Given the description of an element on the screen output the (x, y) to click on. 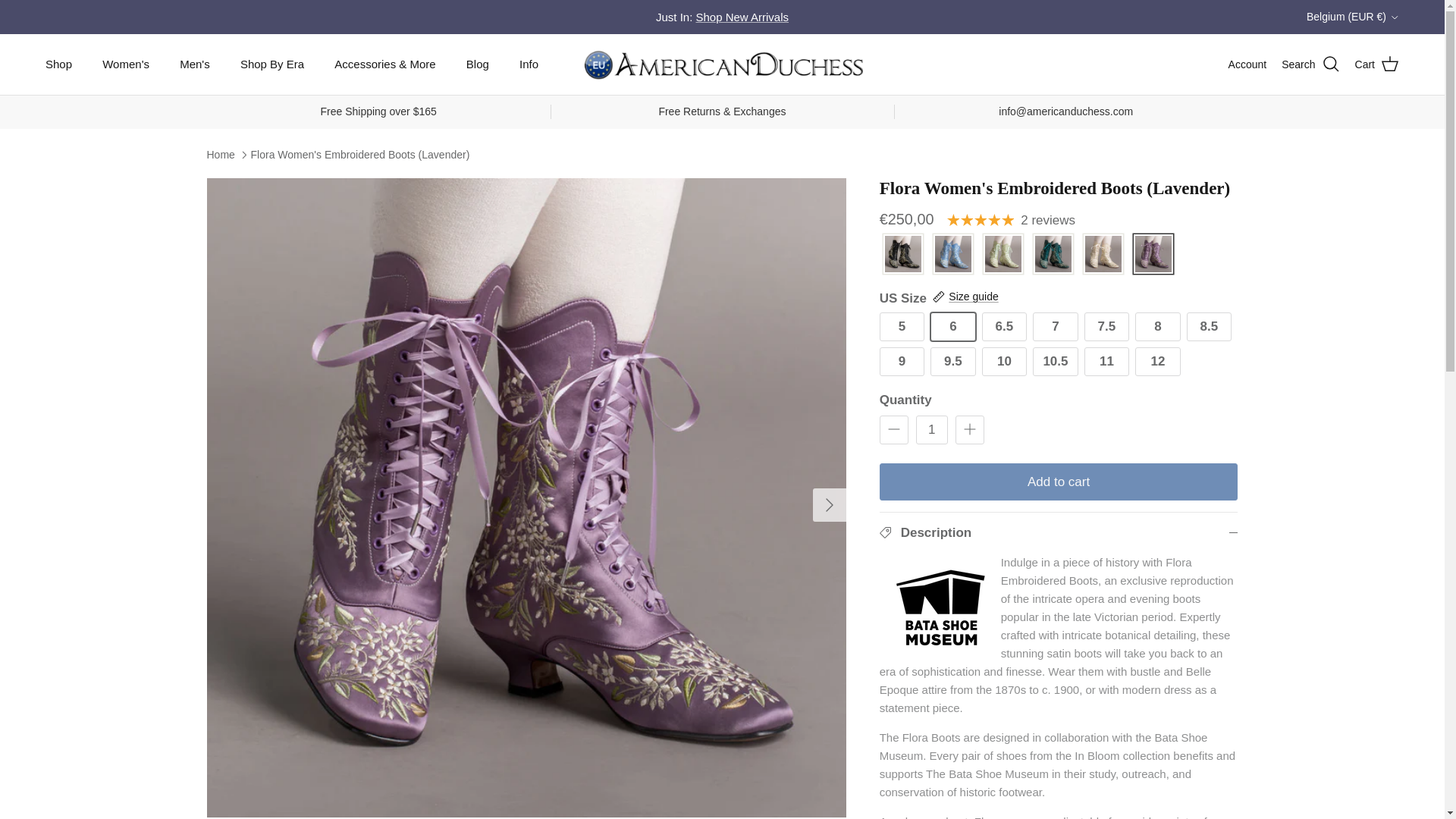
Blue (953, 254)
Black (902, 254)
Info (528, 64)
Cart (1377, 64)
Account (1247, 64)
Men's (194, 64)
Celadon Green (1002, 254)
1 (931, 429)
New Arrivals (742, 16)
Lavender (1152, 254)
